Given the description of an element on the screen output the (x, y) to click on. 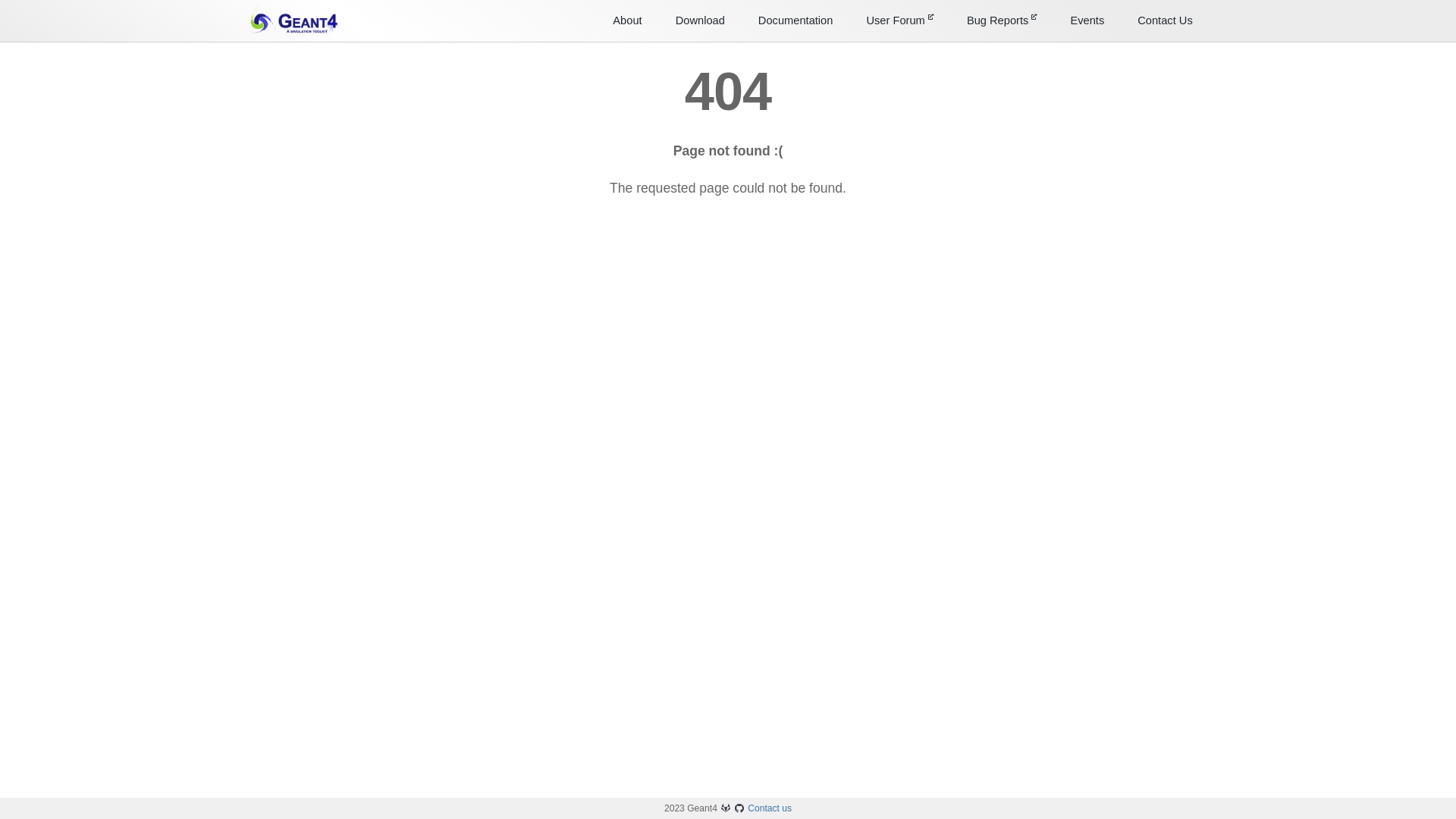
Contact us Element type: text (769, 808)
Documentation Element type: text (795, 20)
Contact Us Element type: text (1164, 20)
Skip to primary navigation Element type: text (0, 0)
User Forum Element type: text (899, 20)
Bug Reports Element type: text (1001, 20)
Events Element type: text (1087, 20)
About Element type: text (626, 20)
Download Element type: text (699, 20)
